Given the description of an element on the screen output the (x, y) to click on. 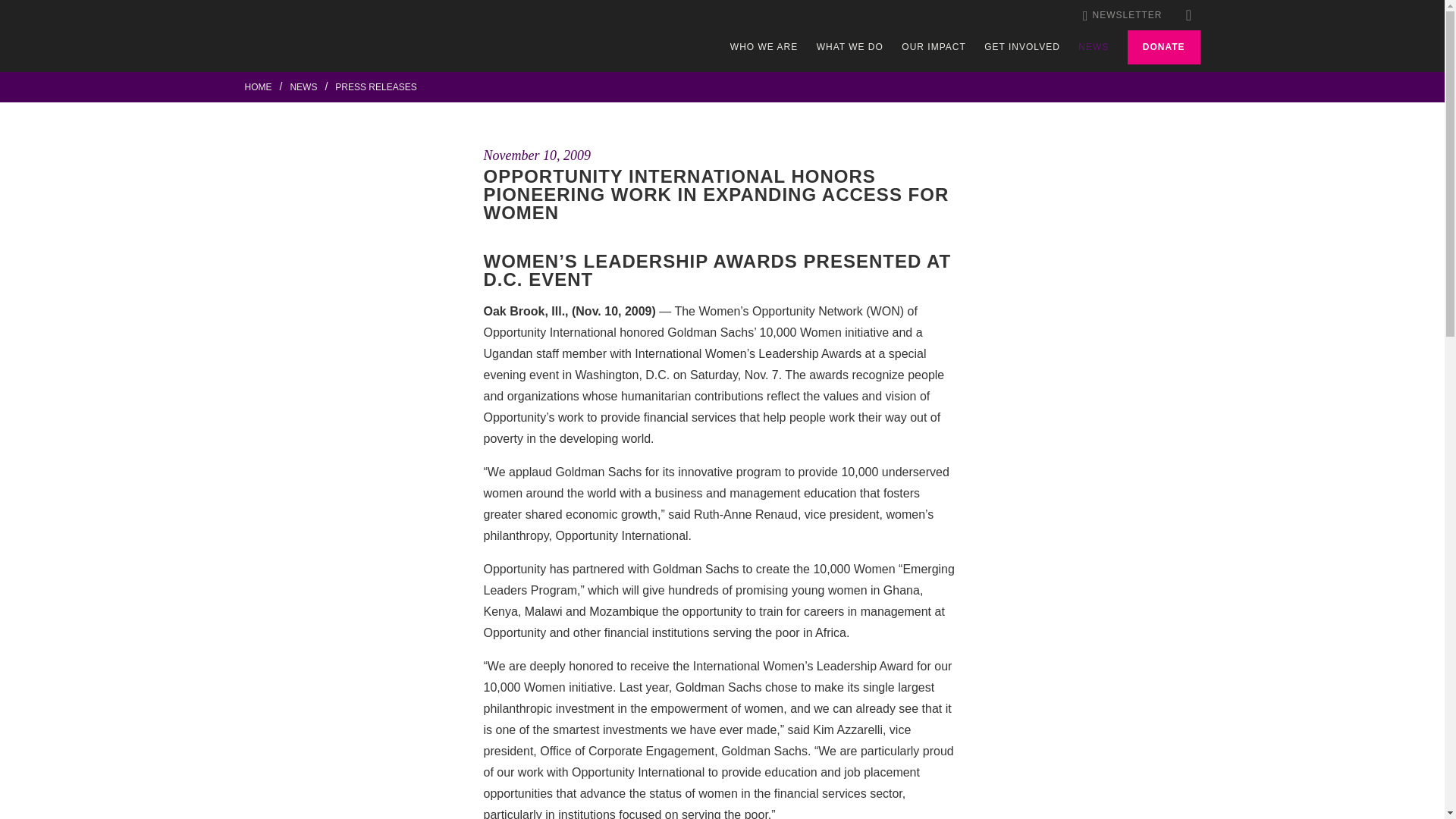
WHAT WE DO (849, 47)
Get Involved (1021, 47)
OUR IMPACT (933, 47)
GET INVOLVED (1021, 47)
WHO WE ARE (763, 47)
NEWSLETTER (1122, 14)
What We Do (849, 47)
Our Impact (933, 47)
Who We Are (763, 47)
